Given the description of an element on the screen output the (x, y) to click on. 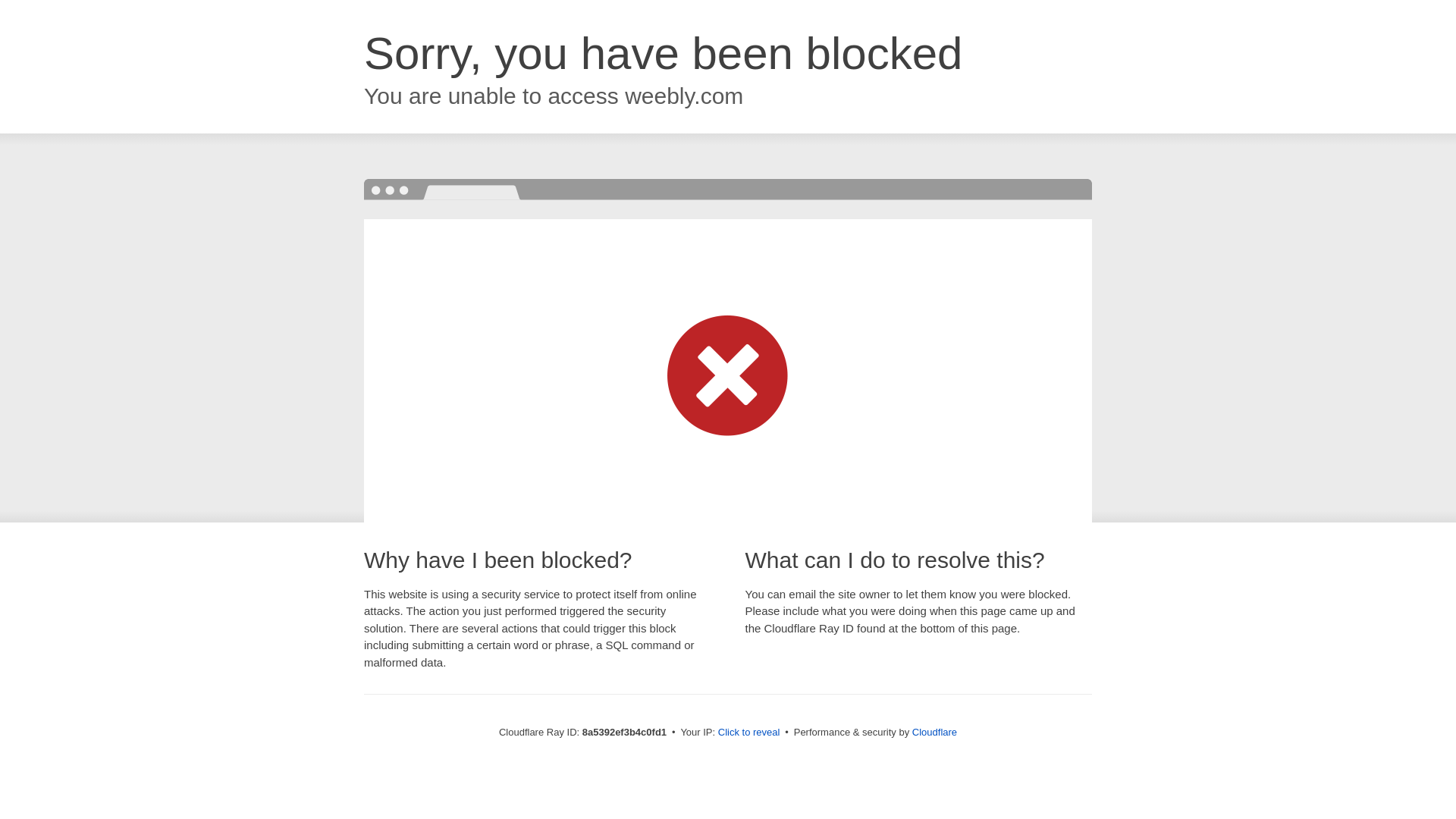
Cloudflare (934, 731)
Click to reveal (748, 732)
